Given the description of an element on the screen output the (x, y) to click on. 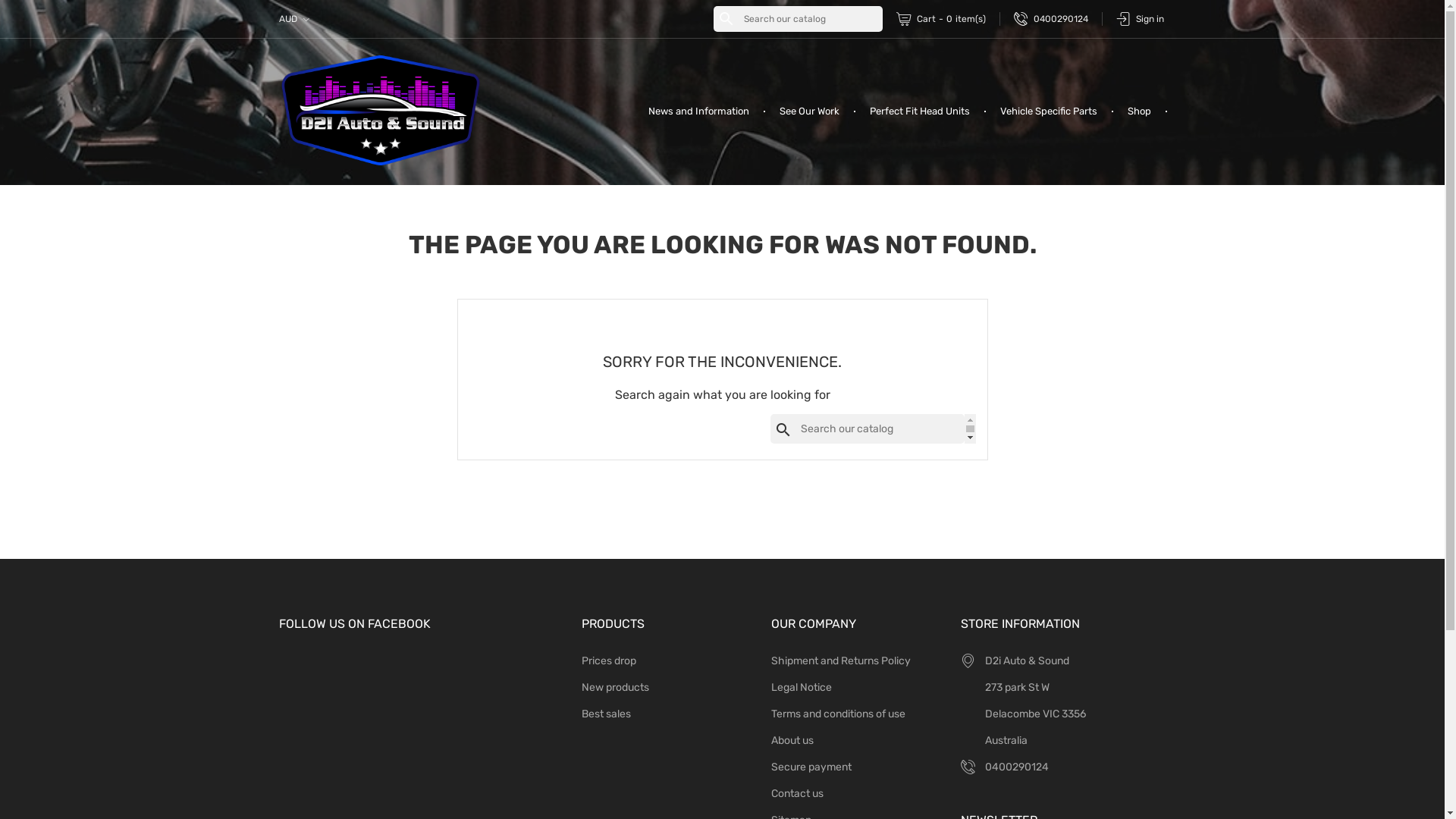
Shop Element type: text (1138, 111)
0400290124 Element type: text (1016, 766)
Perfect Fit Head Units Element type: text (918, 111)
See Our Work Element type: text (809, 111)
Sign in Element type: text (1139, 18)
Terms and conditions of use Element type: text (838, 713)
Contact us Element type: text (797, 793)
0400290124 Element type: text (1050, 18)
Shipment and Returns Policy Element type: text (840, 660)
Legal Notice Element type: text (801, 686)
Secure payment Element type: text (811, 766)
About us Element type: text (792, 740)
Prices drop Element type: text (608, 660)
Best sales Element type: text (605, 713)
Vehicle Specific Parts Element type: text (1047, 111)
New products Element type: text (615, 686)
News and Information Element type: text (697, 111)
